Given the description of an element on the screen output the (x, y) to click on. 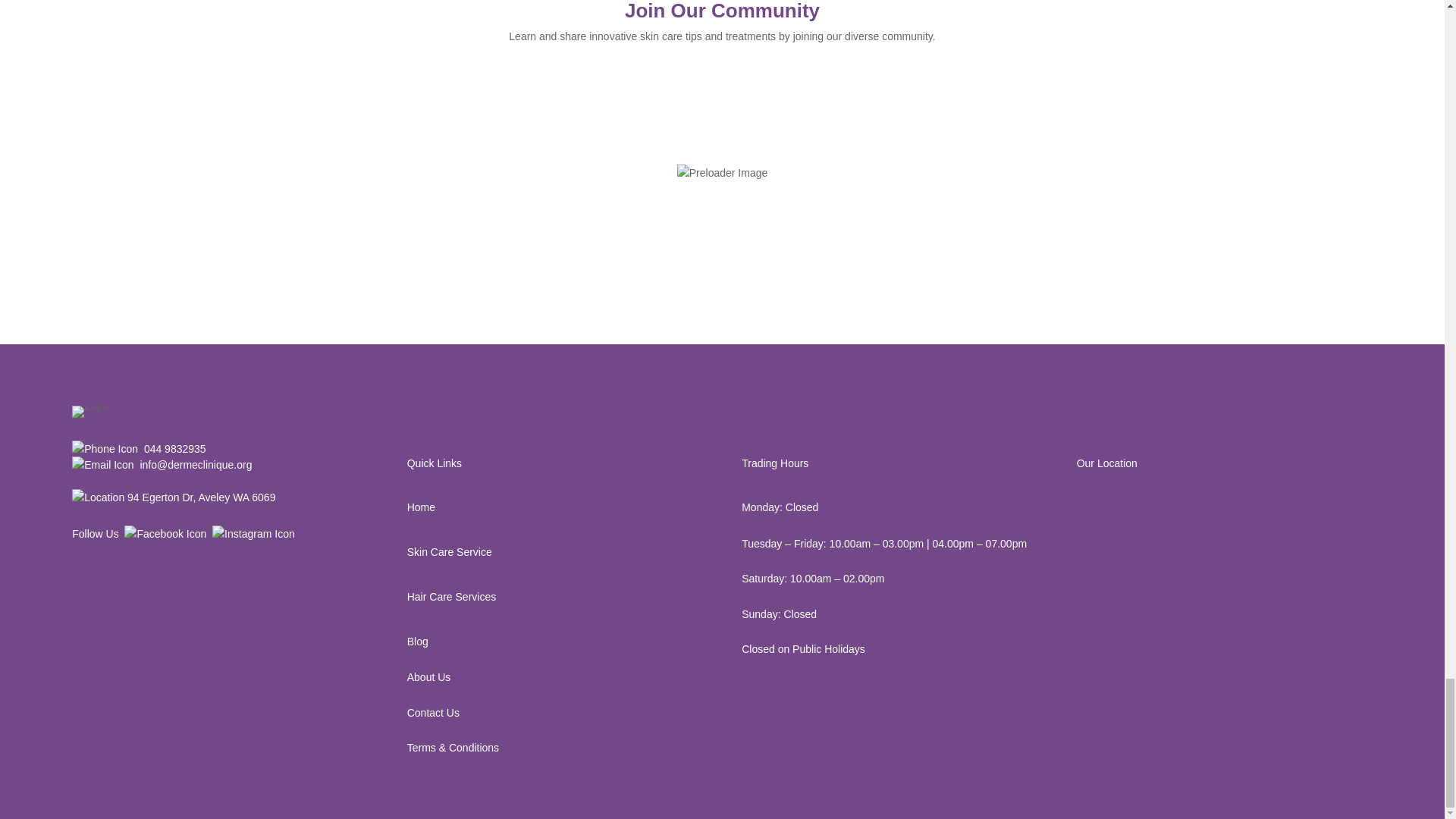
Logo (89, 411)
